Given the description of an element on the screen output the (x, y) to click on. 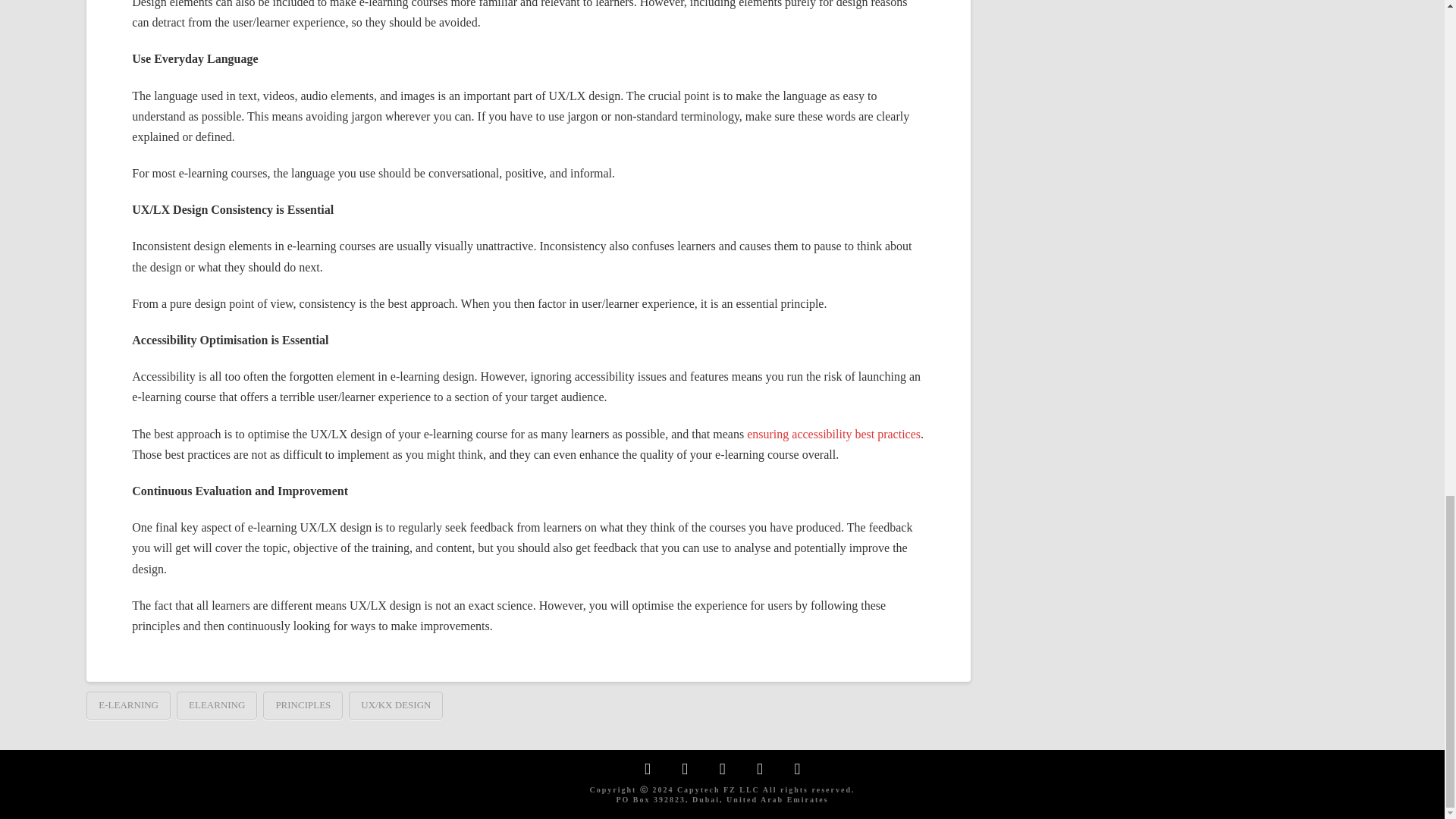
E-LEARNING (127, 705)
ELEARNING (216, 705)
PRINCIPLES (302, 705)
ensuring accessibility best practices (833, 433)
